Given the description of an element on the screen output the (x, y) to click on. 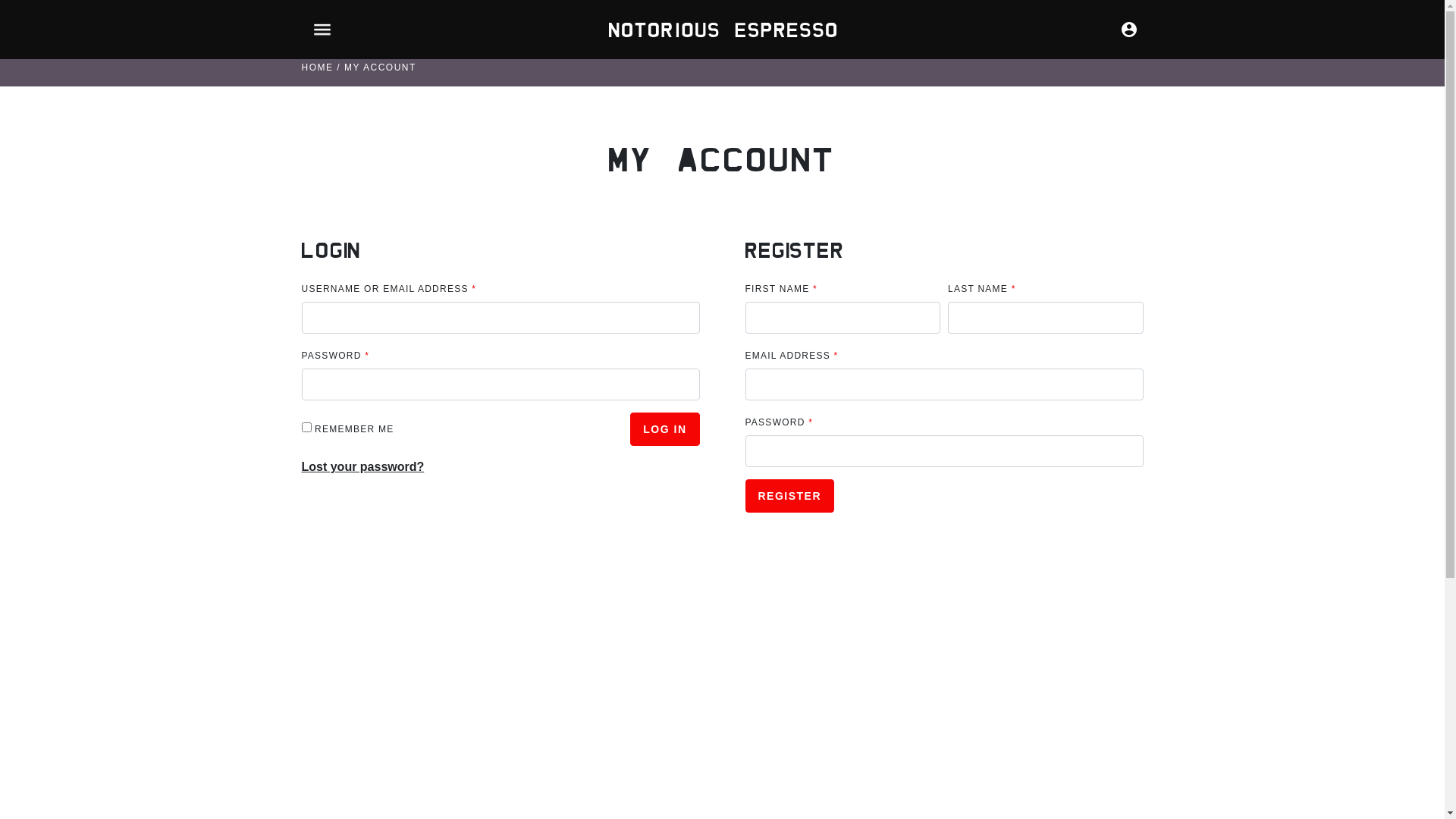
Lost your password? Element type: text (362, 466)
LOG IN Element type: text (664, 428)
HOME Element type: text (317, 67)
REGISTER Element type: text (789, 495)
